Given the description of an element on the screen output the (x, y) to click on. 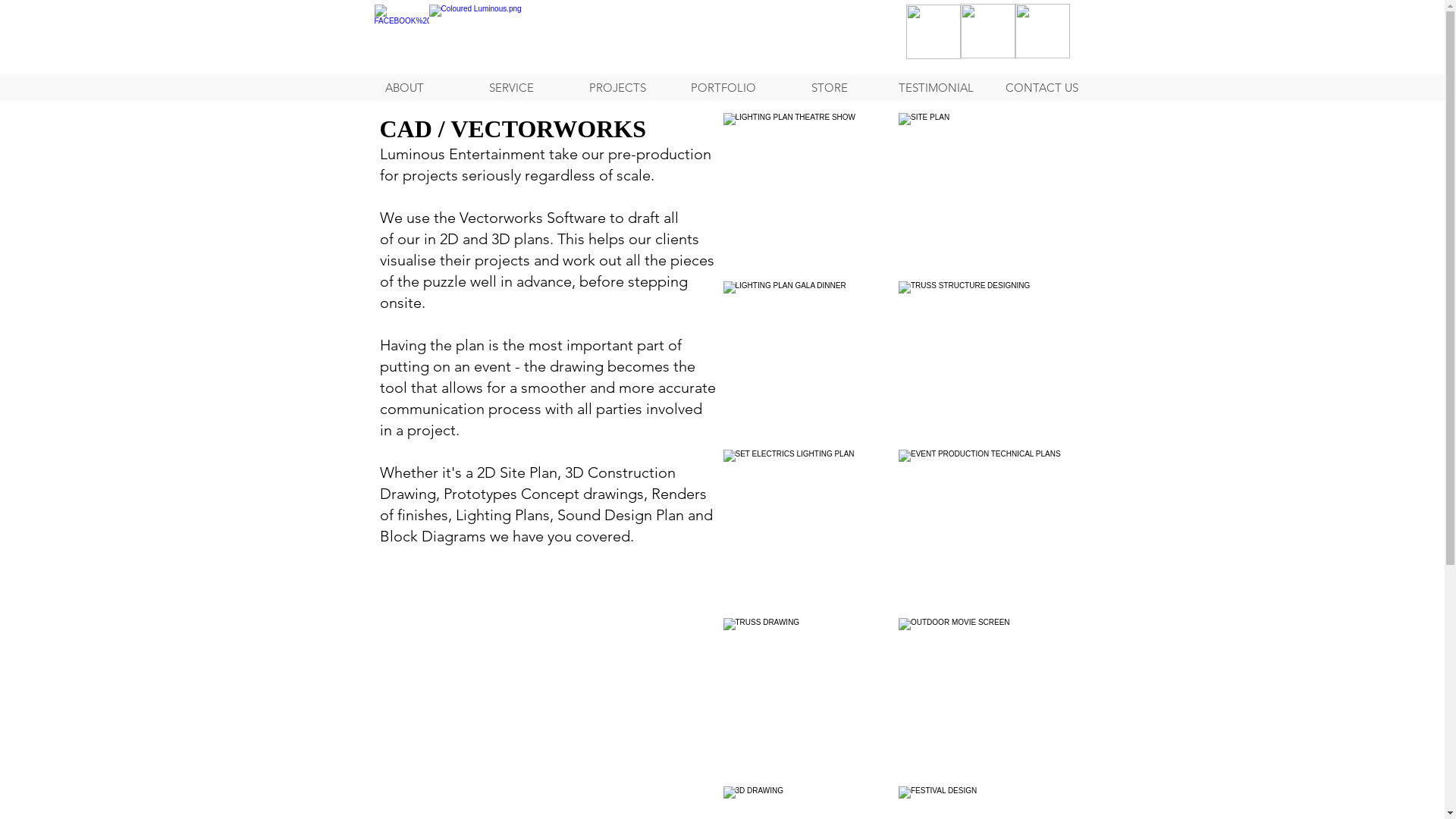
CONTACT US Element type: text (1041, 87)
STORE Element type: text (829, 87)
TESTIMONIAL Element type: text (935, 87)
PORTFOLIO Element type: text (723, 87)
